Given the description of an element on the screen output the (x, y) to click on. 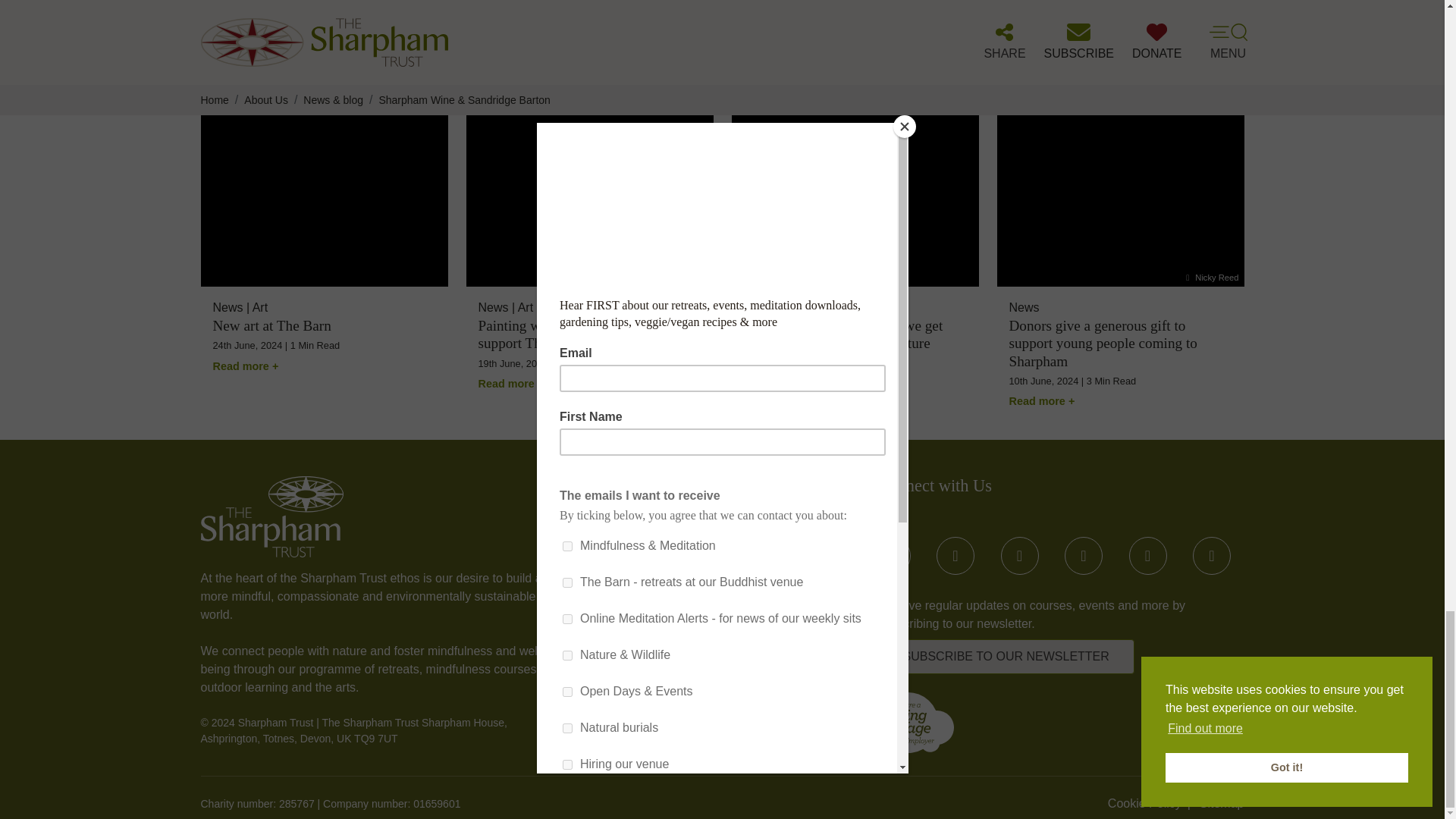
Facebook (891, 555)
Sound Cloud (1211, 555)
Linked In (1147, 555)
Instagram (1083, 555)
YouTube (1020, 555)
Newsletter (1005, 656)
Twitter (955, 555)
